Given the description of an element on the screen output the (x, y) to click on. 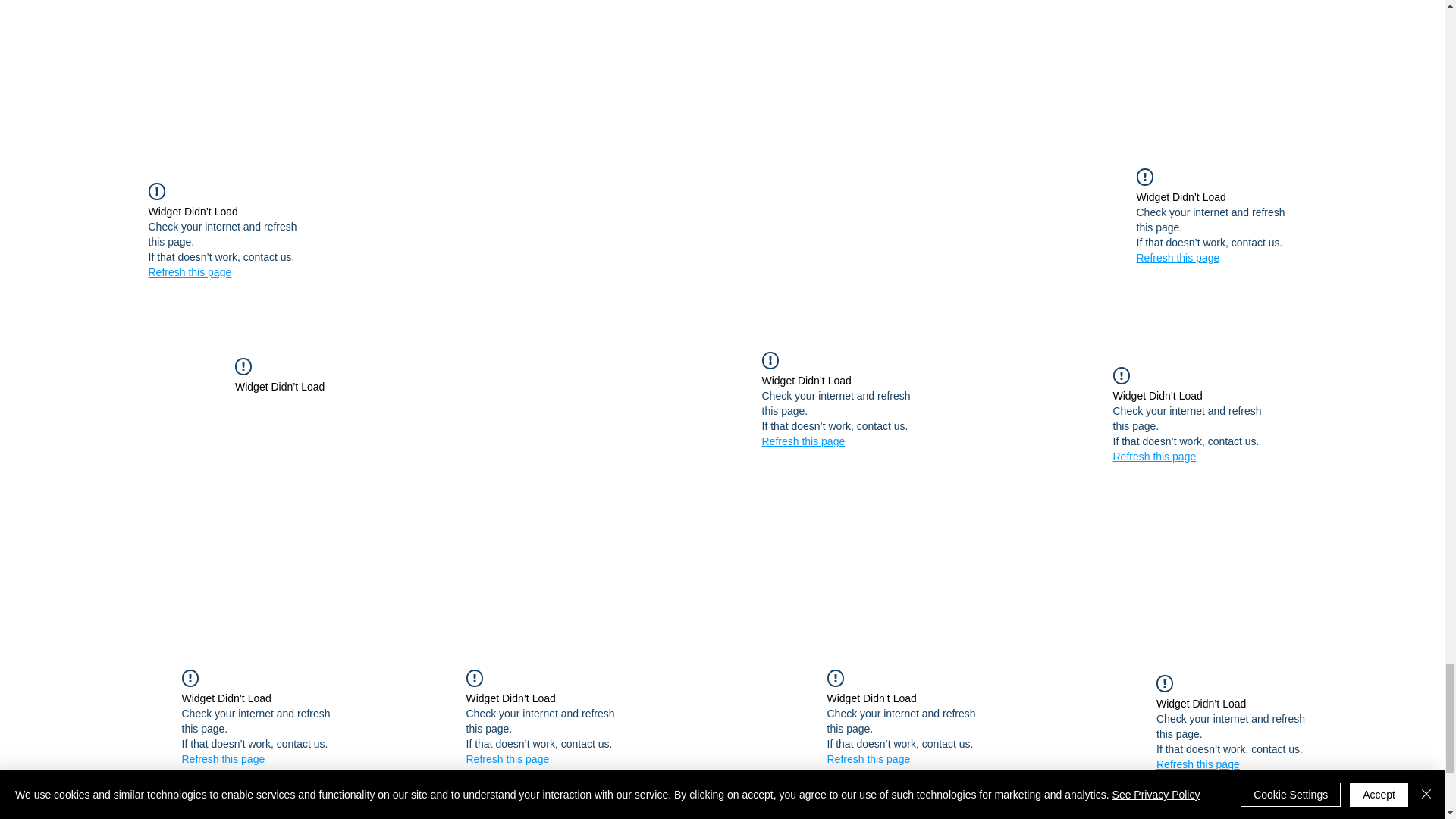
Refresh this page (802, 441)
